Given the description of an element on the screen output the (x, y) to click on. 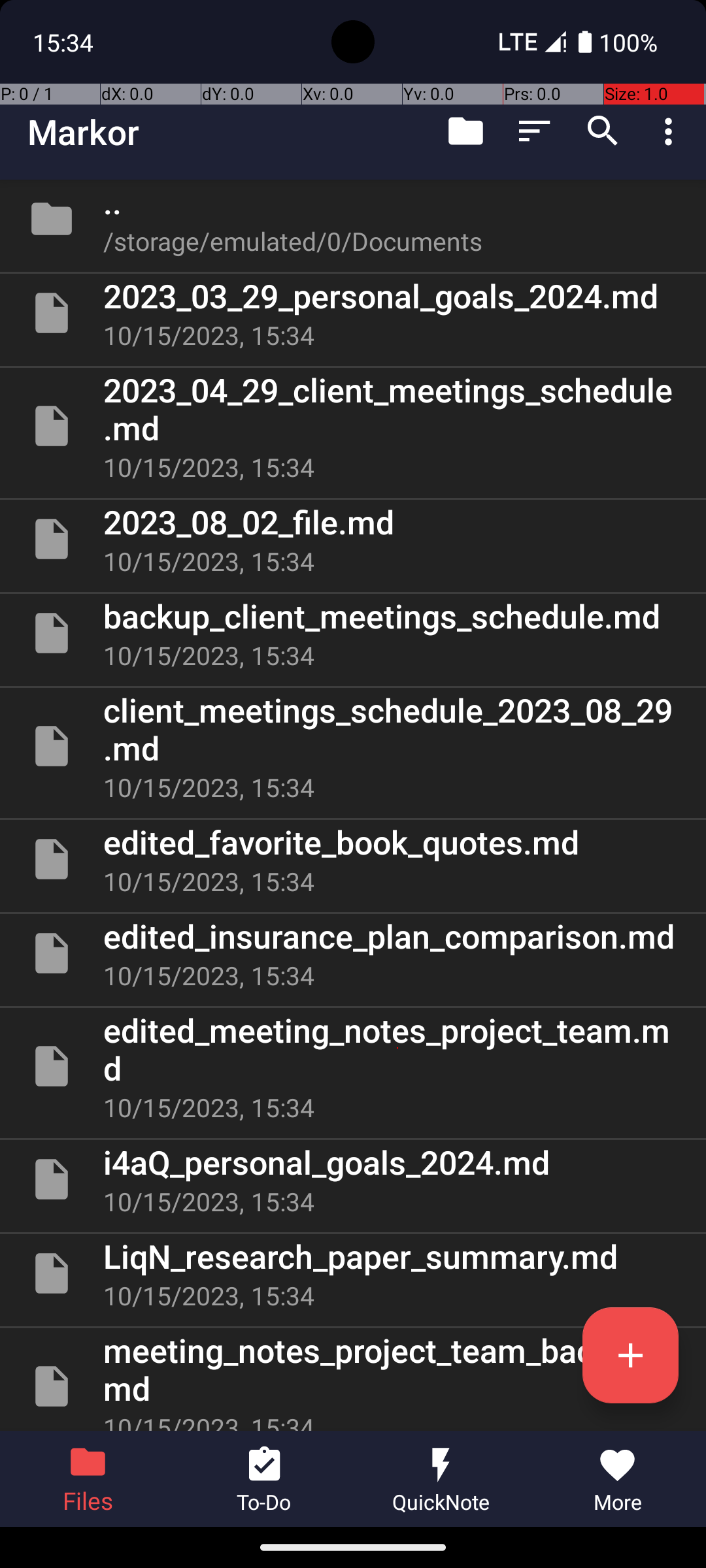
File 2023_03_29_personal_goals_2024.md  Element type: android.widget.LinearLayout (353, 312)
File 2023_04_29_client_meetings_schedule.md  Element type: android.widget.LinearLayout (353, 425)
File 2023_08_02_file.md  Element type: android.widget.LinearLayout (353, 538)
File backup_client_meetings_schedule.md  Element type: android.widget.LinearLayout (353, 632)
File client_meetings_schedule_2023_08_29.md  Element type: android.widget.LinearLayout (353, 745)
File edited_favorite_book_quotes.md  Element type: android.widget.LinearLayout (353, 858)
File edited_insurance_plan_comparison.md  Element type: android.widget.LinearLayout (353, 953)
File edited_meeting_notes_project_team.md  Element type: android.widget.LinearLayout (353, 1066)
File i4aQ_personal_goals_2024.md  Element type: android.widget.LinearLayout (353, 1179)
File LiqN_research_paper_summary.md  Element type: android.widget.LinearLayout (353, 1273)
File meeting_notes_project_team_backup.md  Element type: android.widget.LinearLayout (353, 1379)
